Given the description of an element on the screen output the (x, y) to click on. 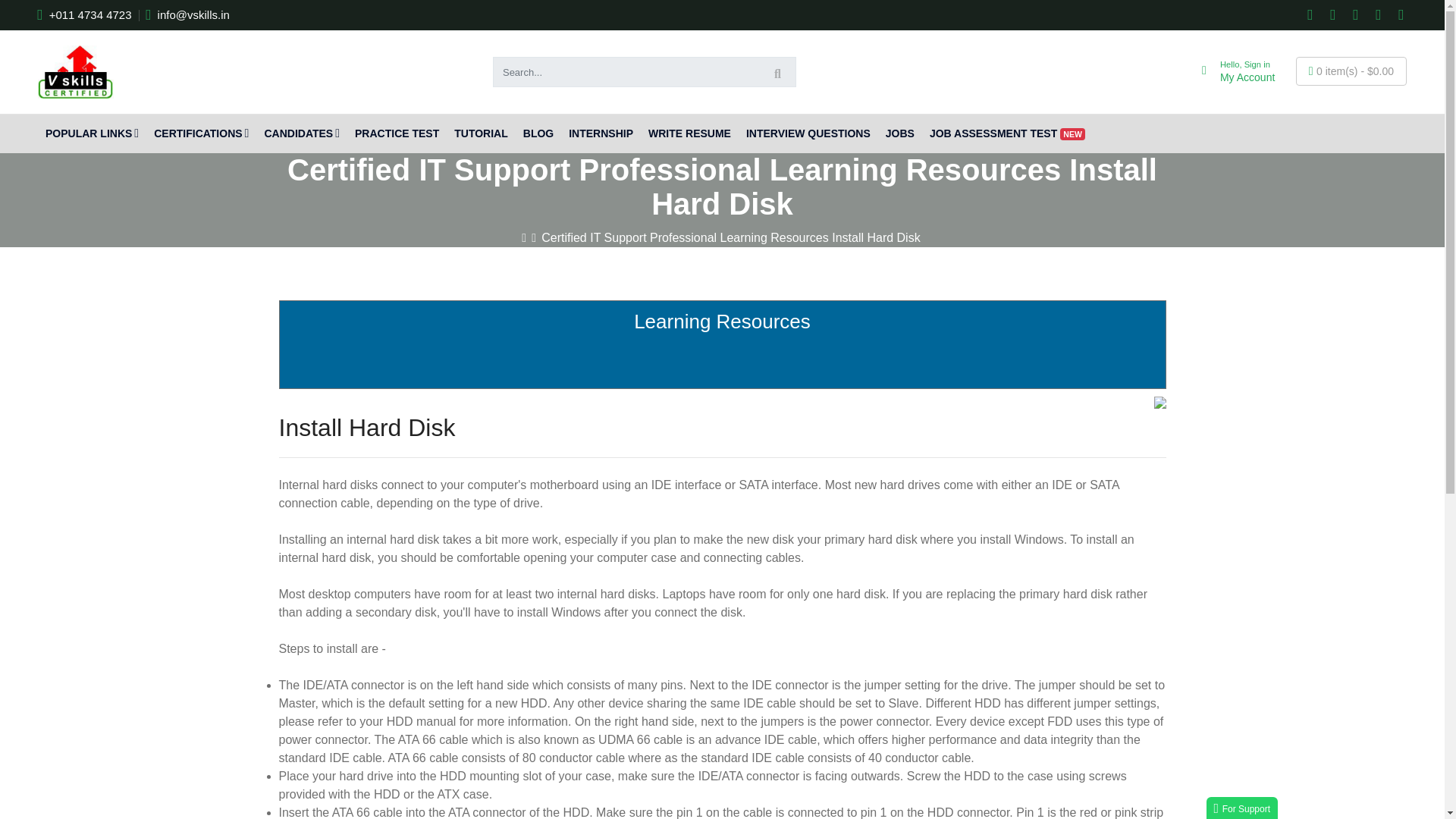
POPULAR LINKS (1230, 71)
CERTIFICATIONS (92, 133)
